Given the description of an element on the screen output the (x, y) to click on. 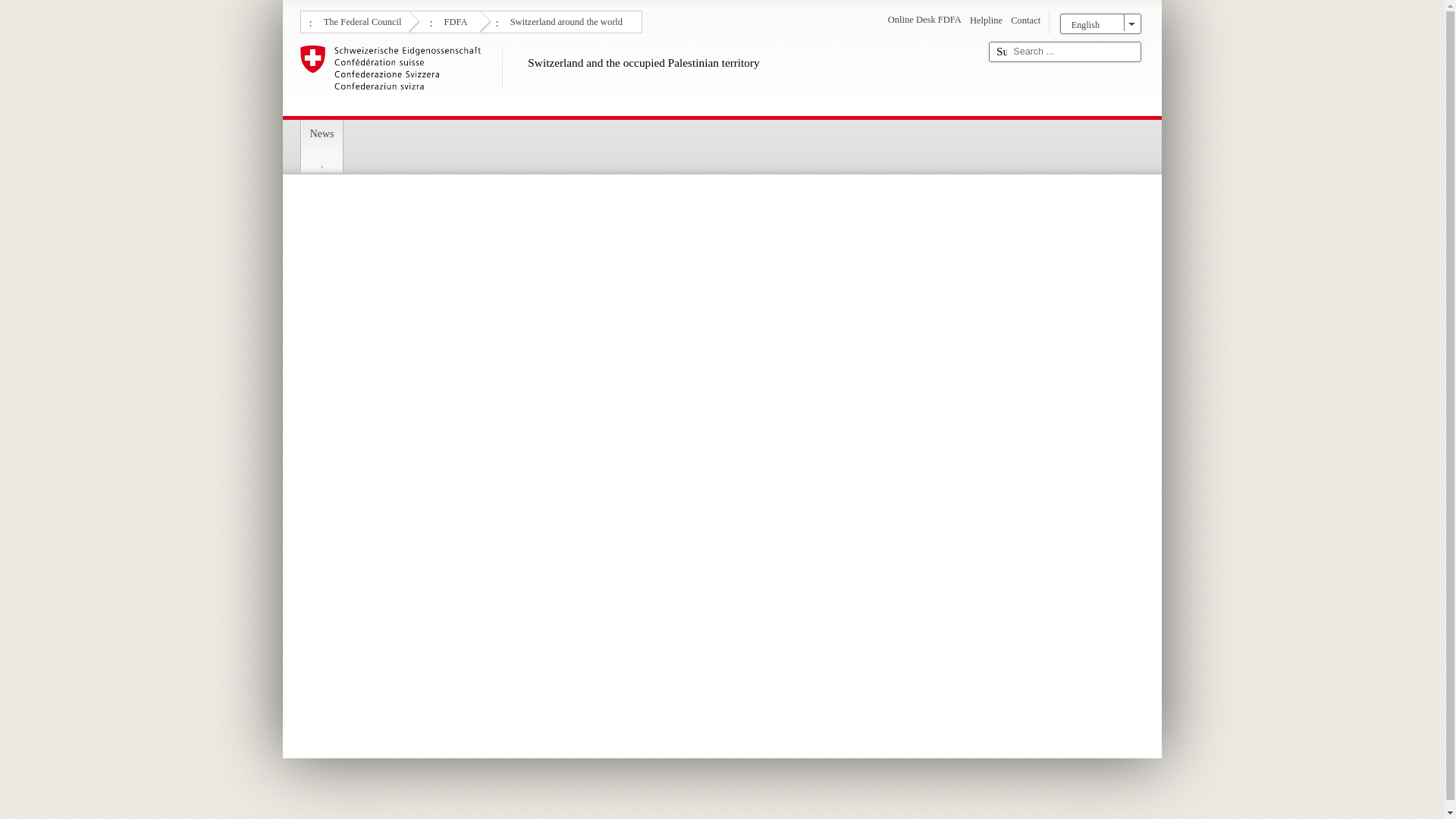
The Federal Council (360, 20)
FDFA (454, 20)
Switzerland and the occupied Palestinian territory (637, 76)
Switzerland around the world (564, 20)
